Given the description of an element on the screen output the (x, y) to click on. 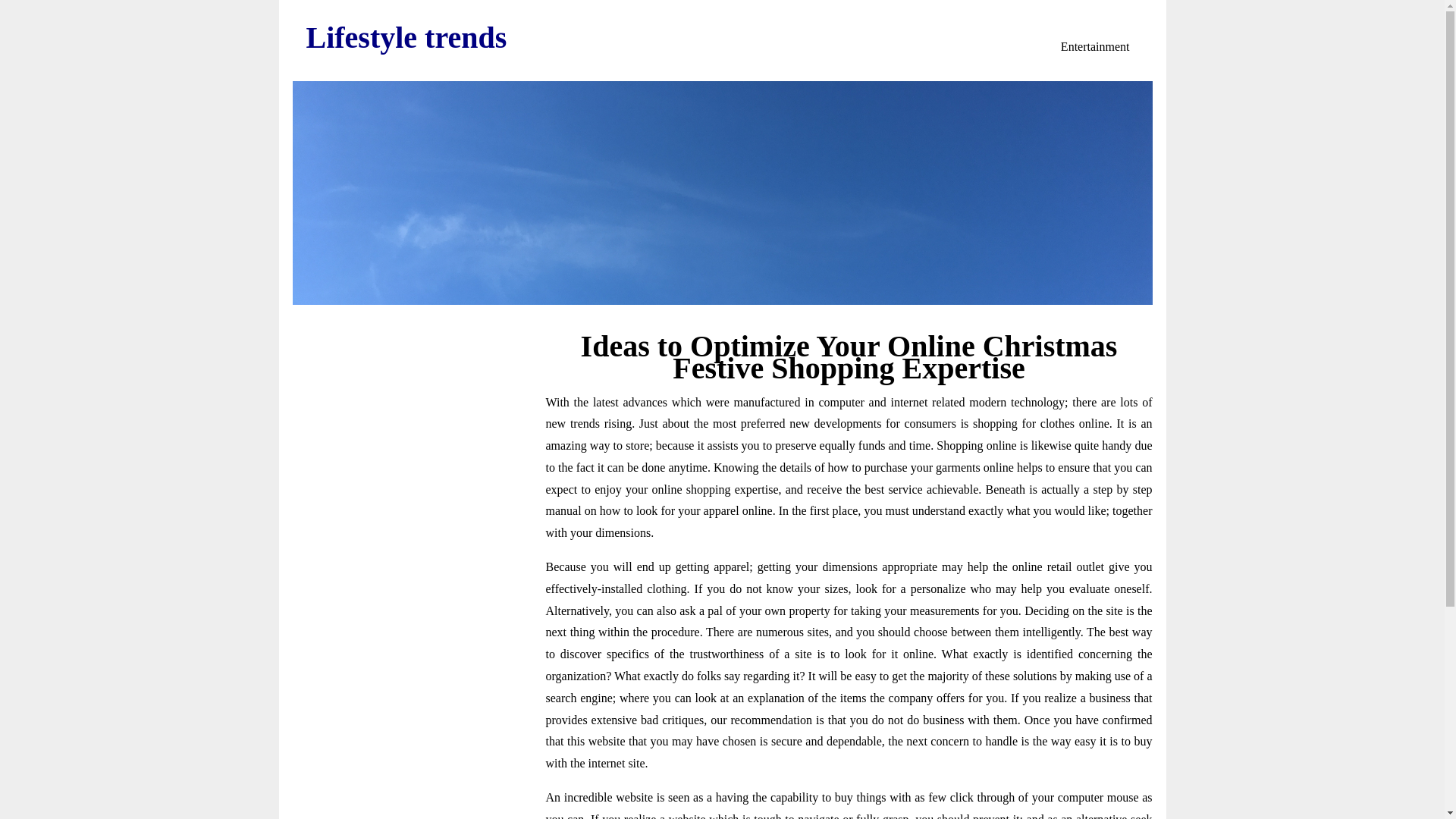
Entertainment (1094, 47)
Lifestyle trends (405, 37)
